Given the description of an element on the screen output the (x, y) to click on. 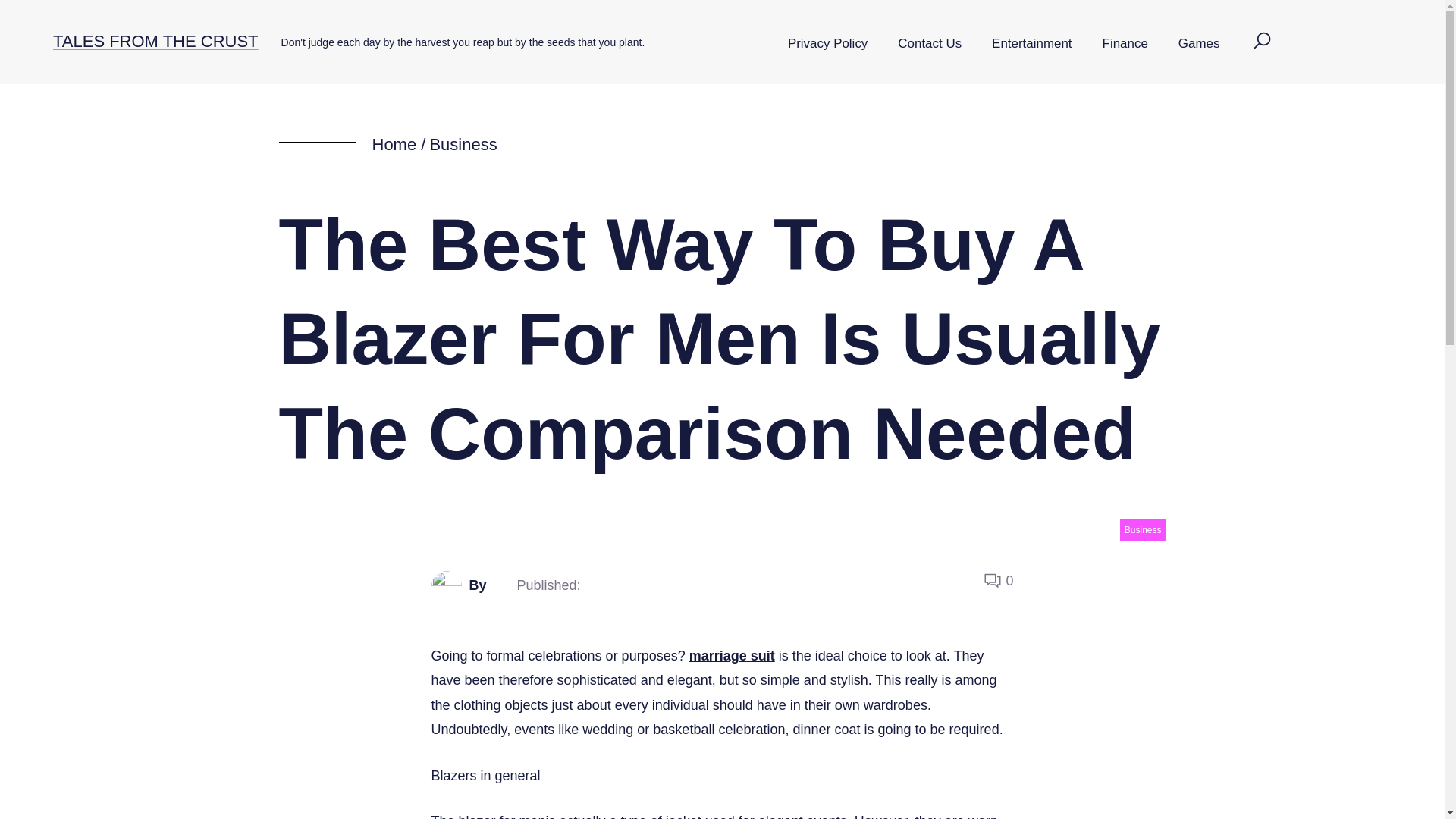
Games (1198, 43)
Privacy Policy (827, 43)
Contact Us (929, 43)
Entertainment (1031, 43)
marriage suit (731, 655)
Business (462, 144)
Finance (1125, 43)
Home (393, 144)
TALES FROM THE CRUST (155, 40)
Business (1142, 529)
